Given the description of an element on the screen output the (x, y) to click on. 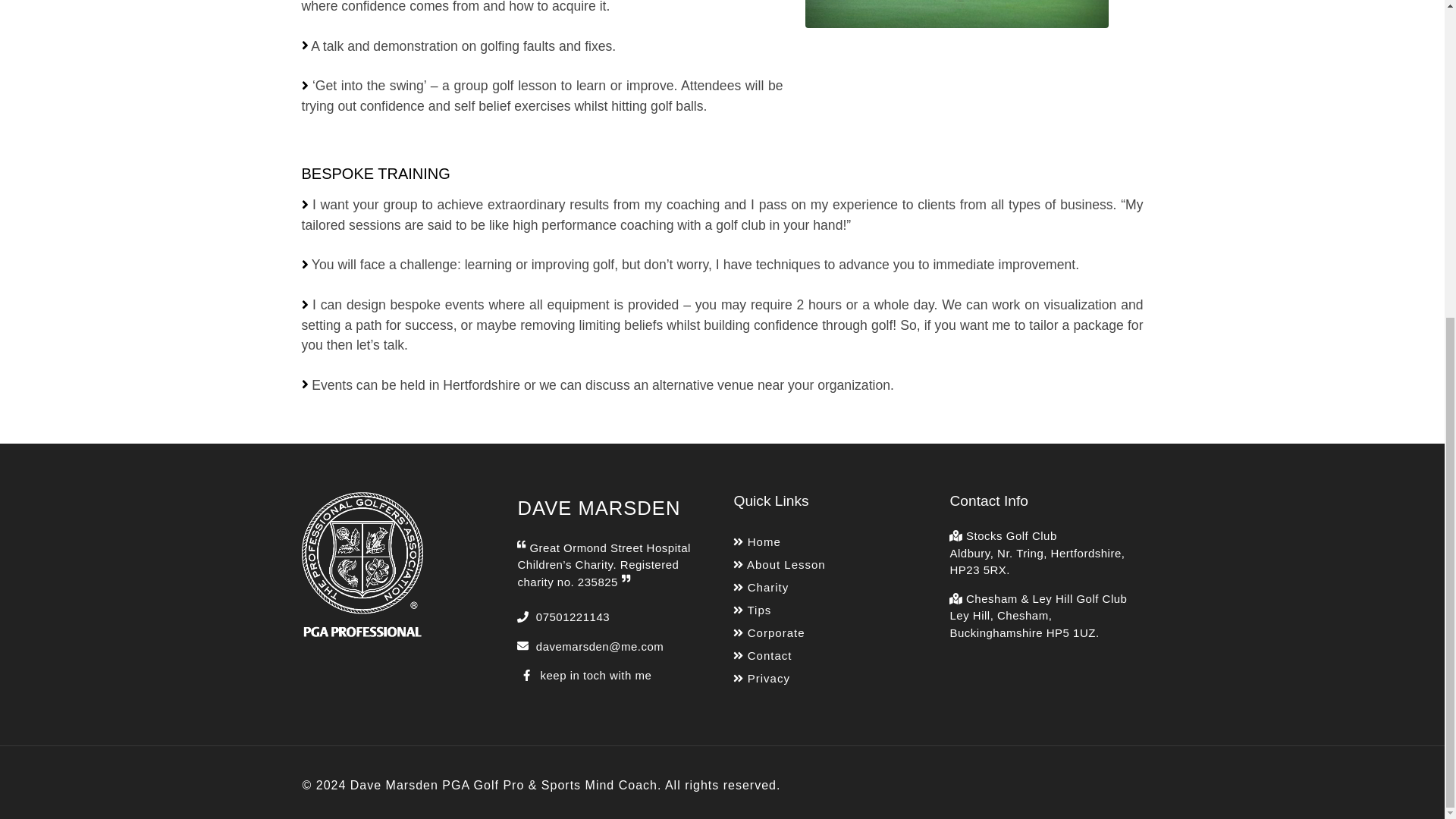
 Charity (779, 588)
 About Lesson (779, 565)
 Tips (779, 610)
 Home (779, 542)
 Contact (779, 656)
keep in toch with me (583, 675)
 Privacy (779, 678)
 Corporate (779, 633)
DAVE MARSDEN (597, 507)
 07501221143 (563, 616)
